Given the description of an element on the screen output the (x, y) to click on. 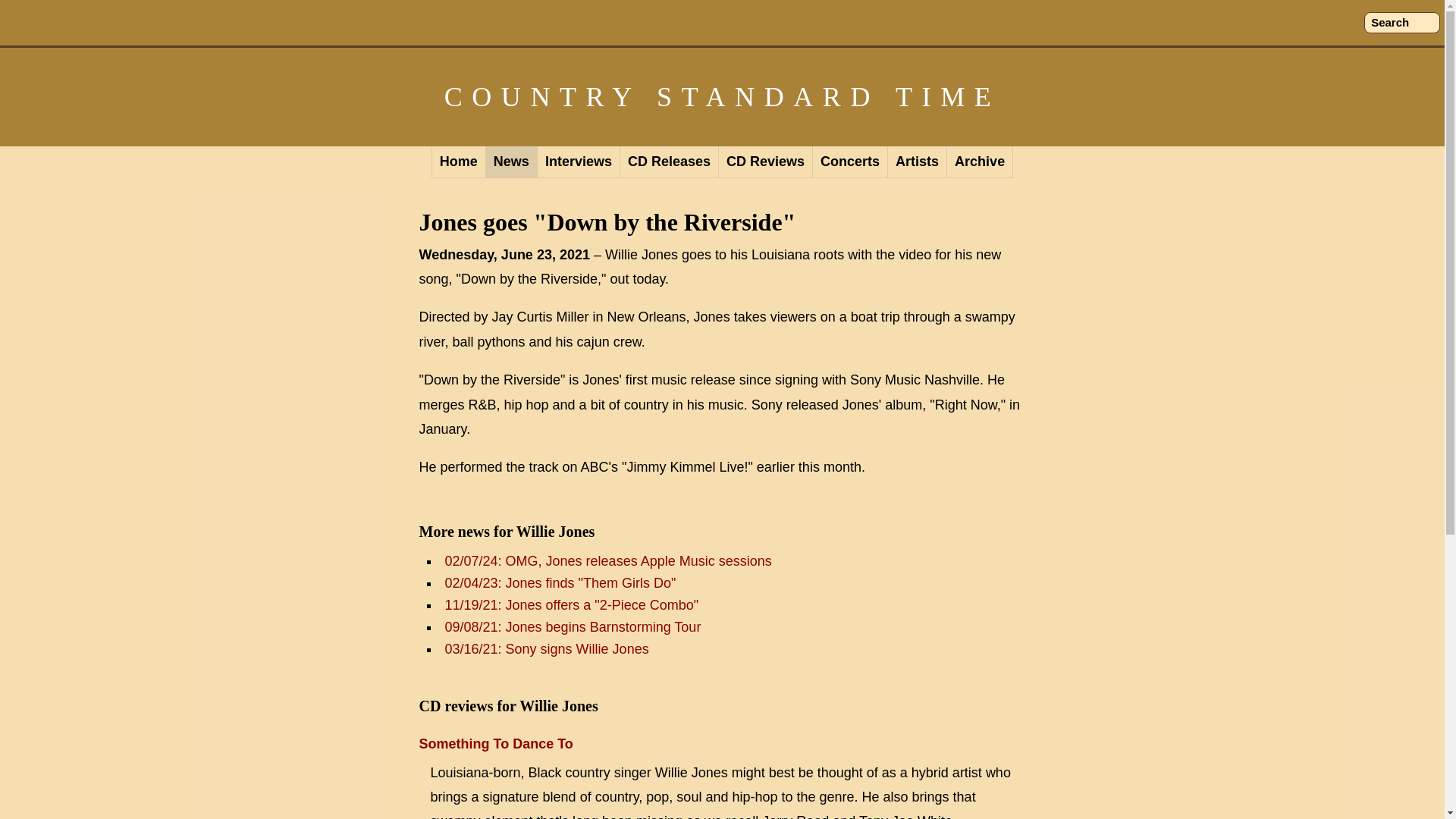
 Search (1401, 22)
Sony signs Willie Jones (545, 648)
COUNTRY STANDARD TIME (722, 96)
Concerts (850, 162)
Jones finds "Them Girls Do" (559, 582)
Interviews (578, 162)
Artists (917, 162)
Archive (980, 162)
OMG, Jones releases Apple Music sessions (607, 560)
Something To Dance To (495, 743)
